Given the description of an element on the screen output the (x, y) to click on. 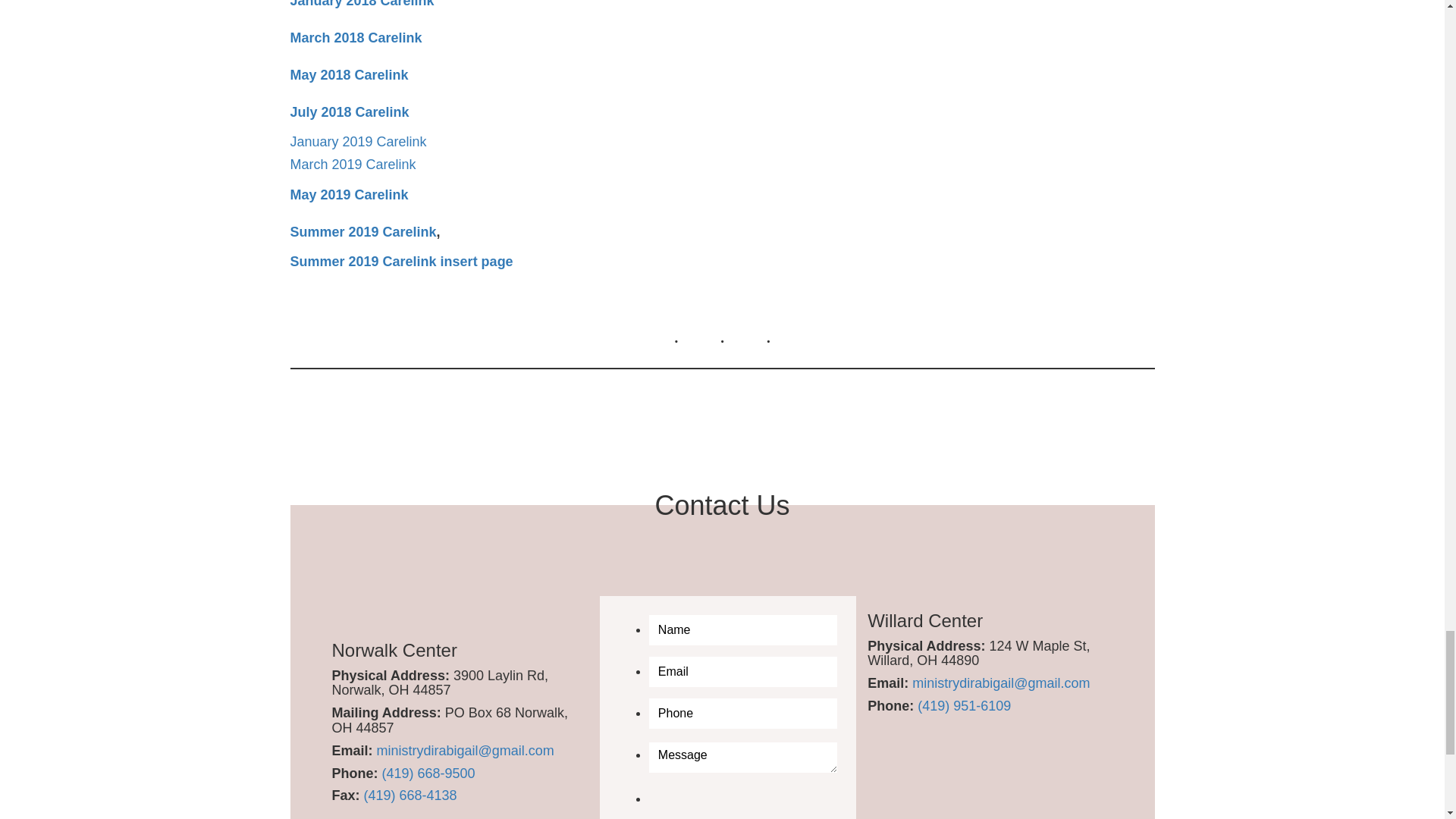
Summer 2019 Carelink (362, 231)
March 2018 Carelink (355, 37)
July 2018 Carelink (349, 111)
January 2019 Carelink (357, 141)
January 2018 Carelink (361, 4)
March 2019 Carelink (351, 164)
May 2018 Carelink (348, 74)
May 2019 Carelink (348, 194)
Summer 2019 Carelink insert page (400, 261)
